Given the description of an element on the screen output the (x, y) to click on. 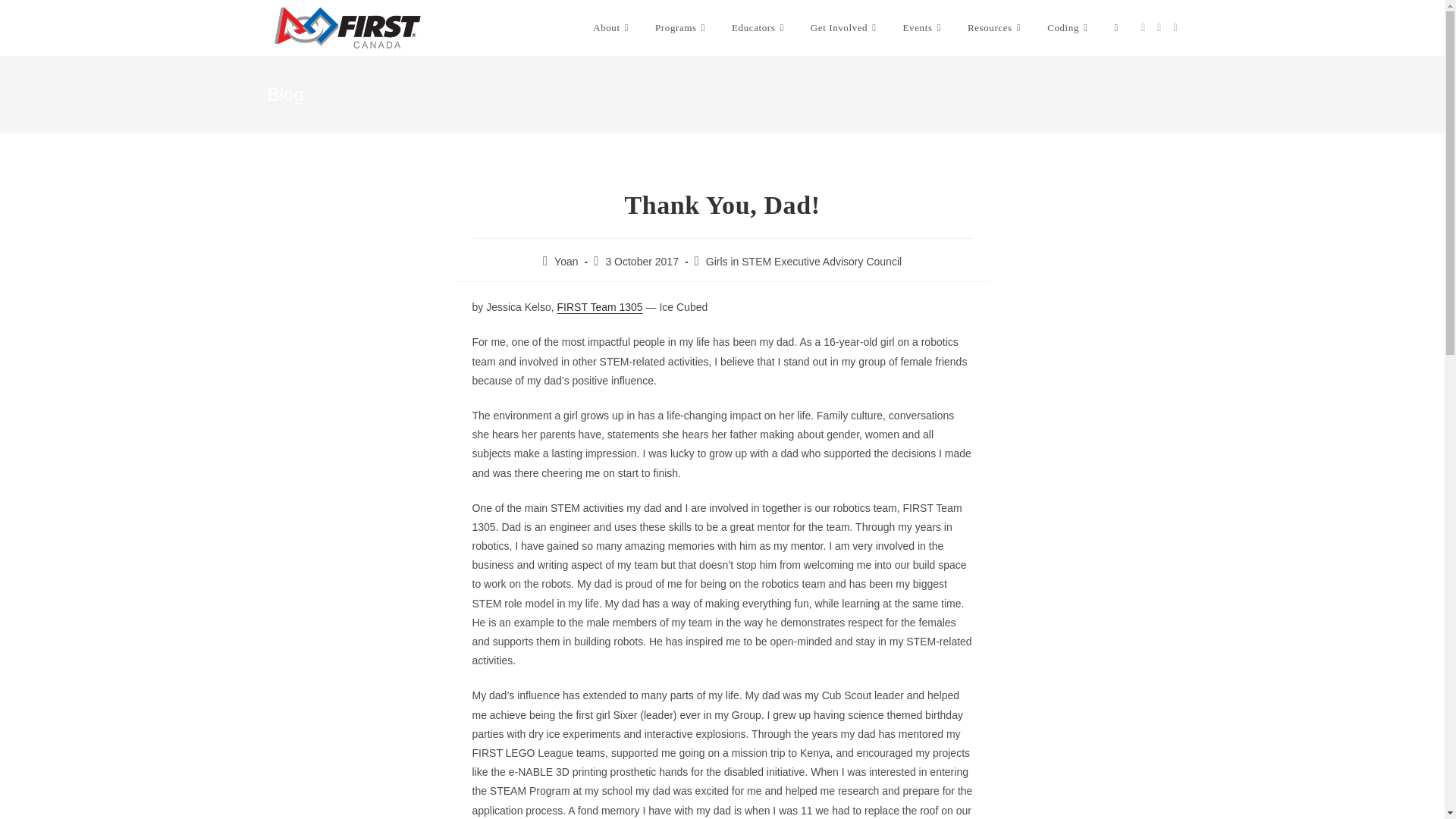
Educators (759, 28)
Programs (681, 28)
About (611, 28)
Get Involved (845, 28)
Posts by Yoan (566, 261)
